Given the description of an element on the screen output the (x, y) to click on. 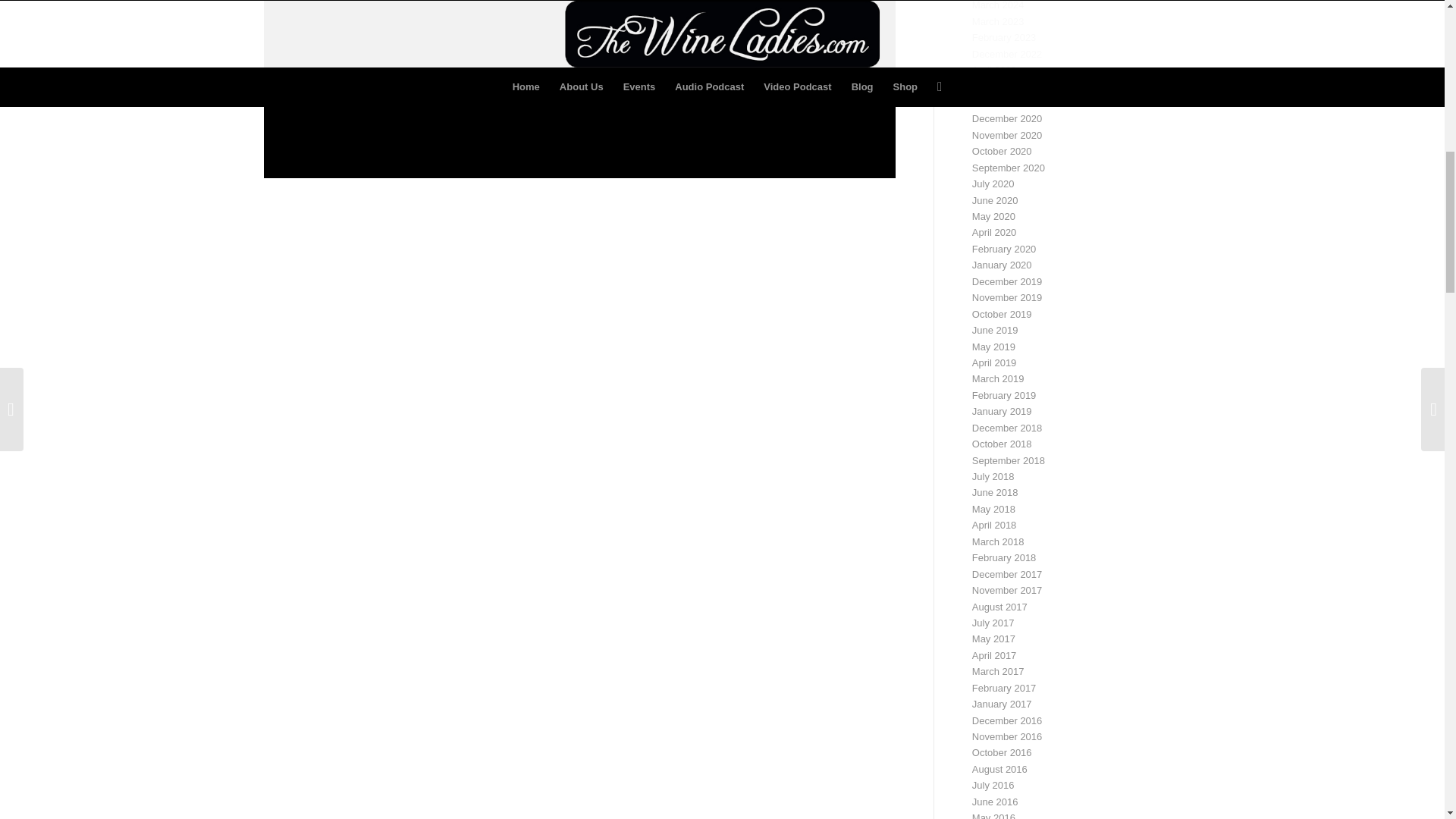
March 2023 (998, 21)
September 2020 (1008, 167)
November 2020 (1007, 134)
March 2022 (998, 86)
October 2020 (1002, 151)
February 2023 (1004, 37)
December 2022 (1007, 53)
March 2024 (998, 5)
April 2022 (994, 70)
March 2021 (998, 102)
